Given the description of an element on the screen output the (x, y) to click on. 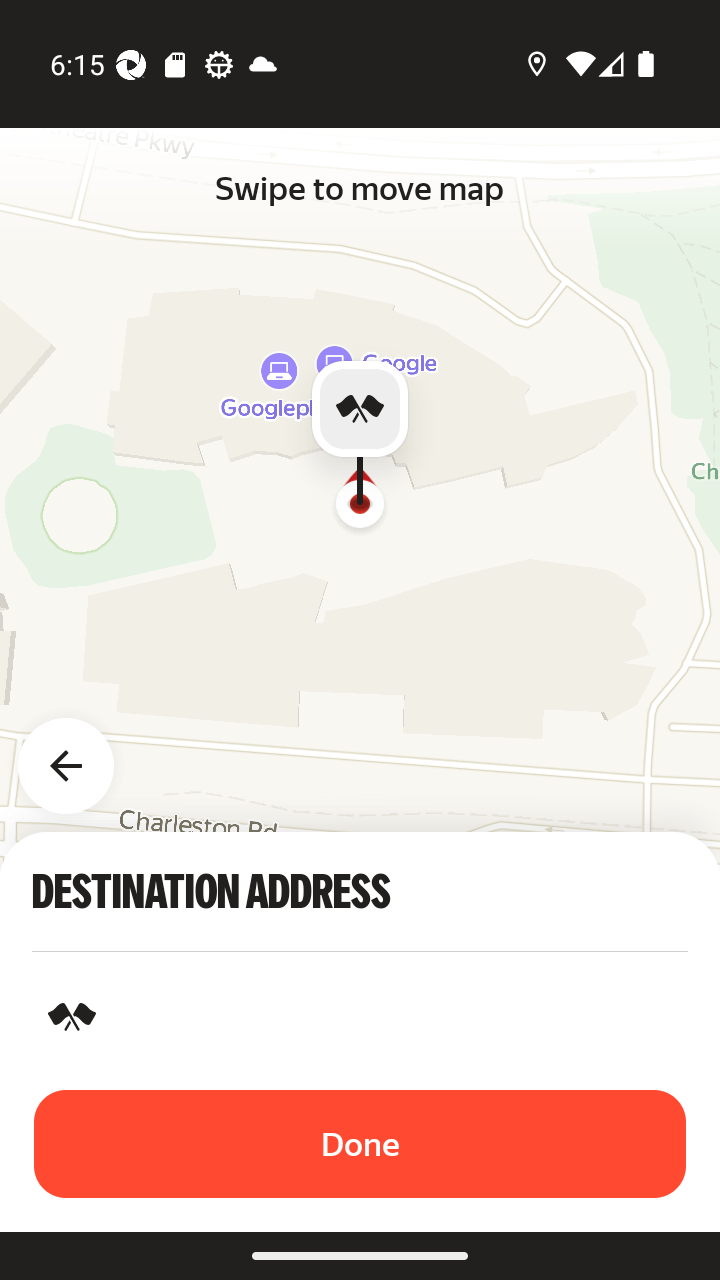
Back (78, 753)
Done (359, 1144)
